Given the description of an element on the screen output the (x, y) to click on. 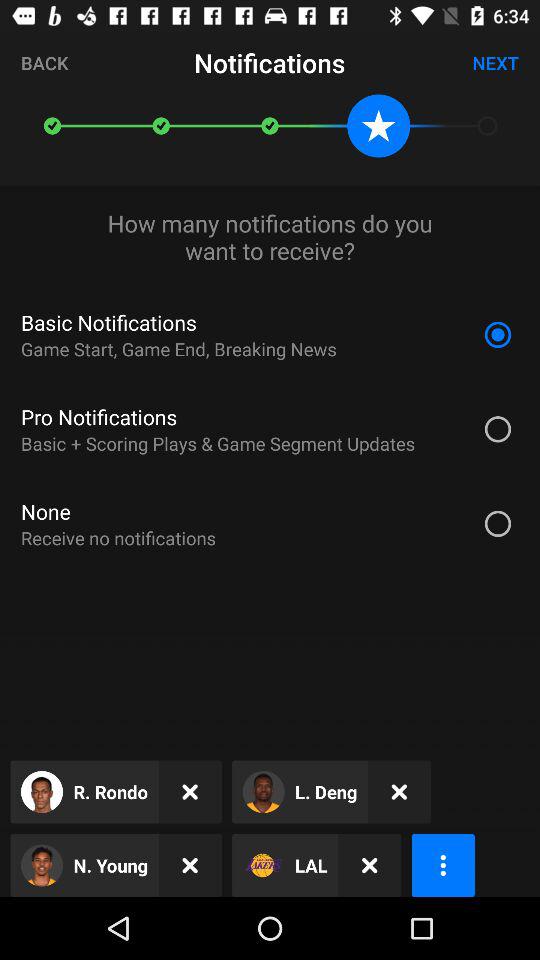
show more (442, 865)
